Given the description of an element on the screen output the (x, y) to click on. 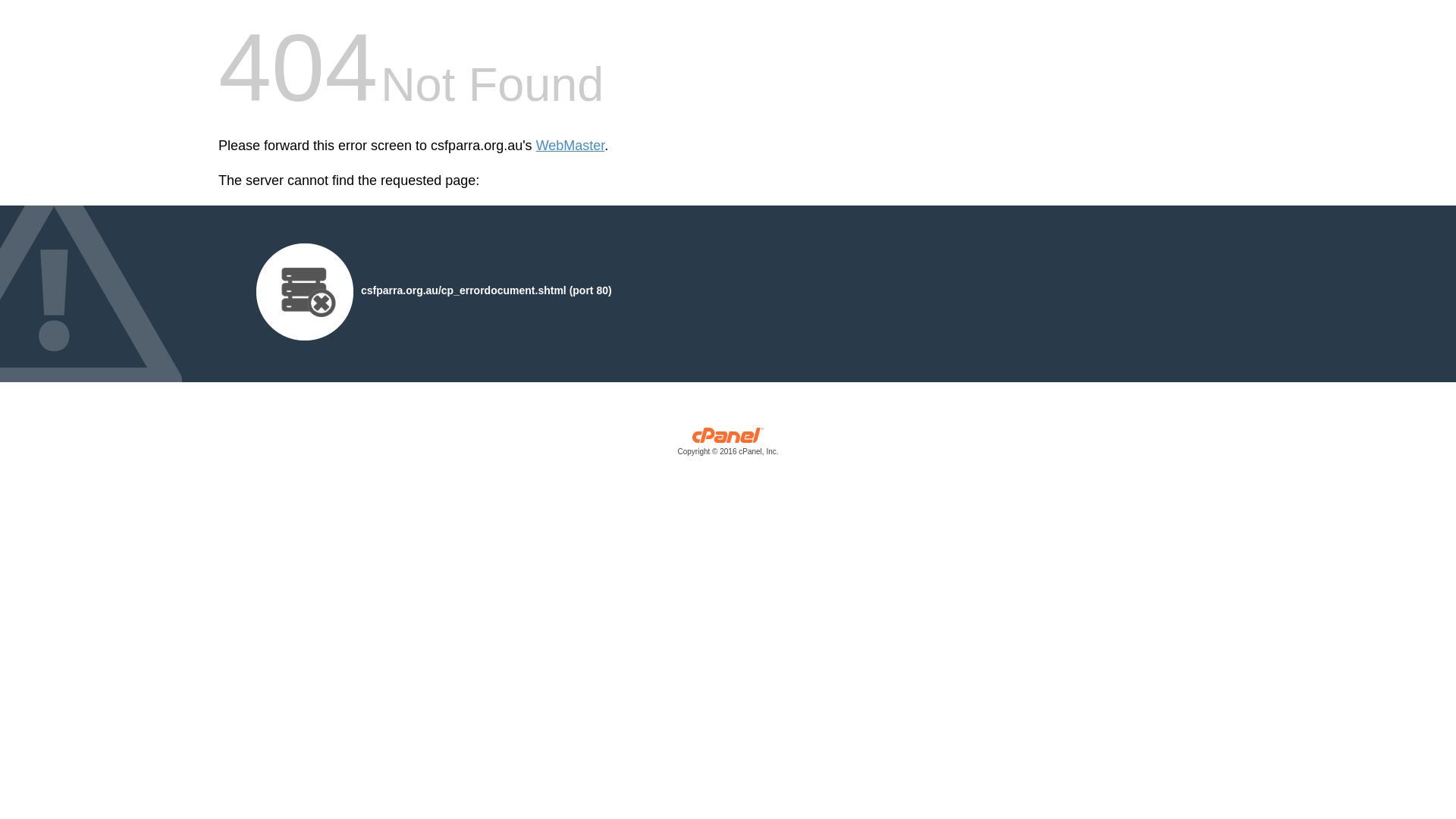
WebMaster Element type: text (570, 145)
